Given the description of an element on the screen output the (x, y) to click on. 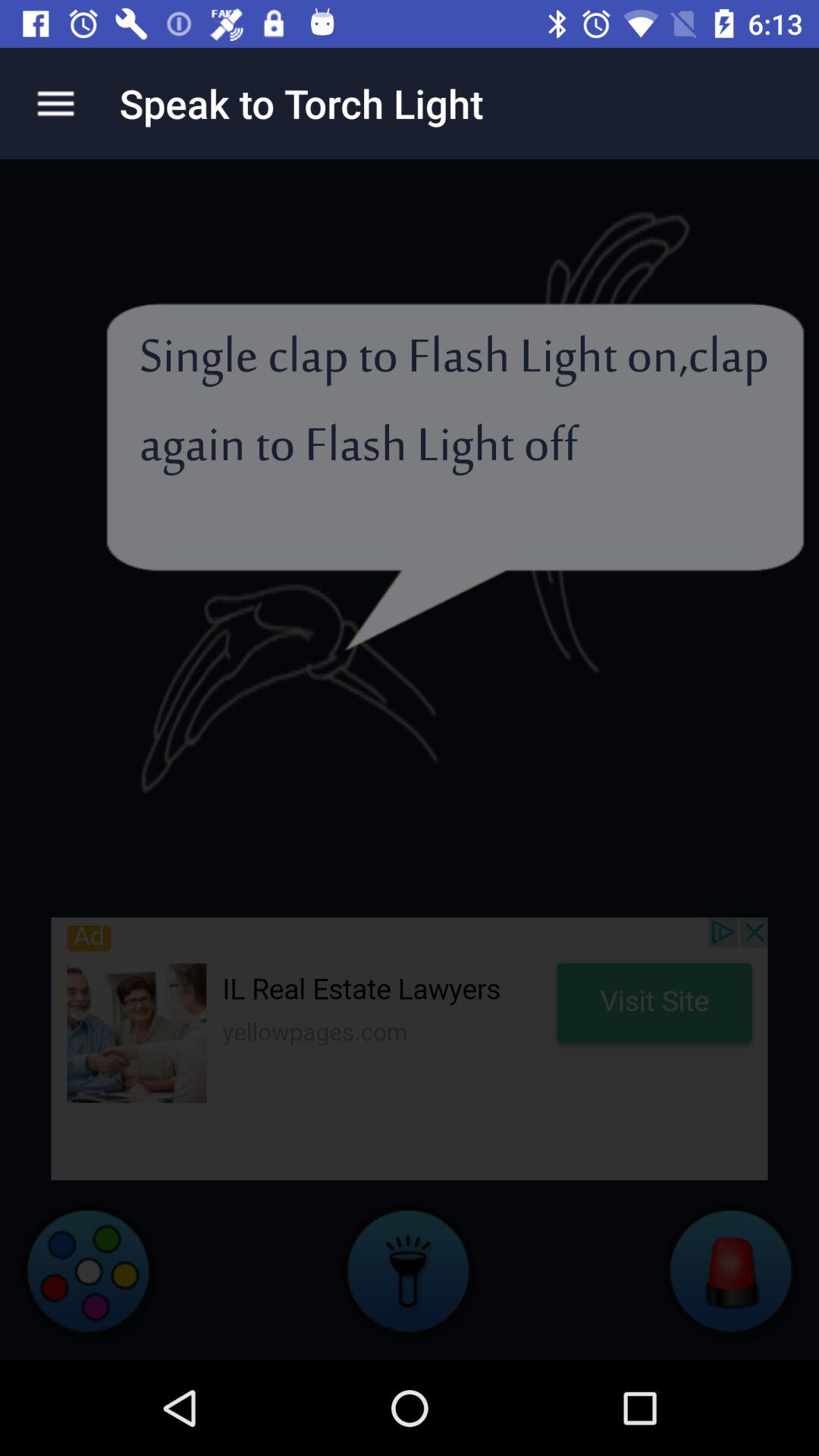
menu (55, 103)
